Given the description of an element on the screen output the (x, y) to click on. 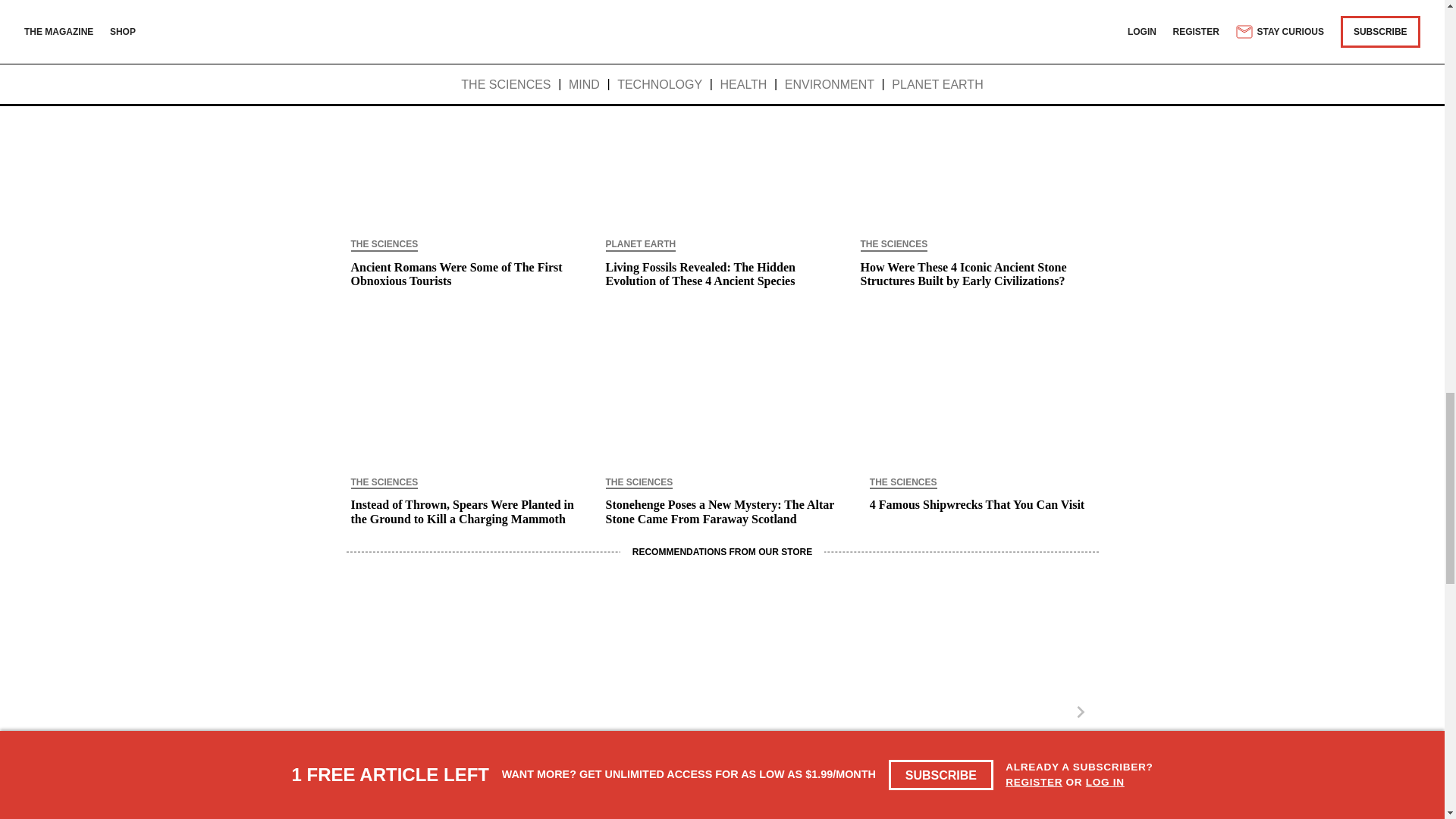
water (458, 12)
archaeology (387, 12)
THE SCIENCES (383, 245)
